Given the description of an element on the screen output the (x, y) to click on. 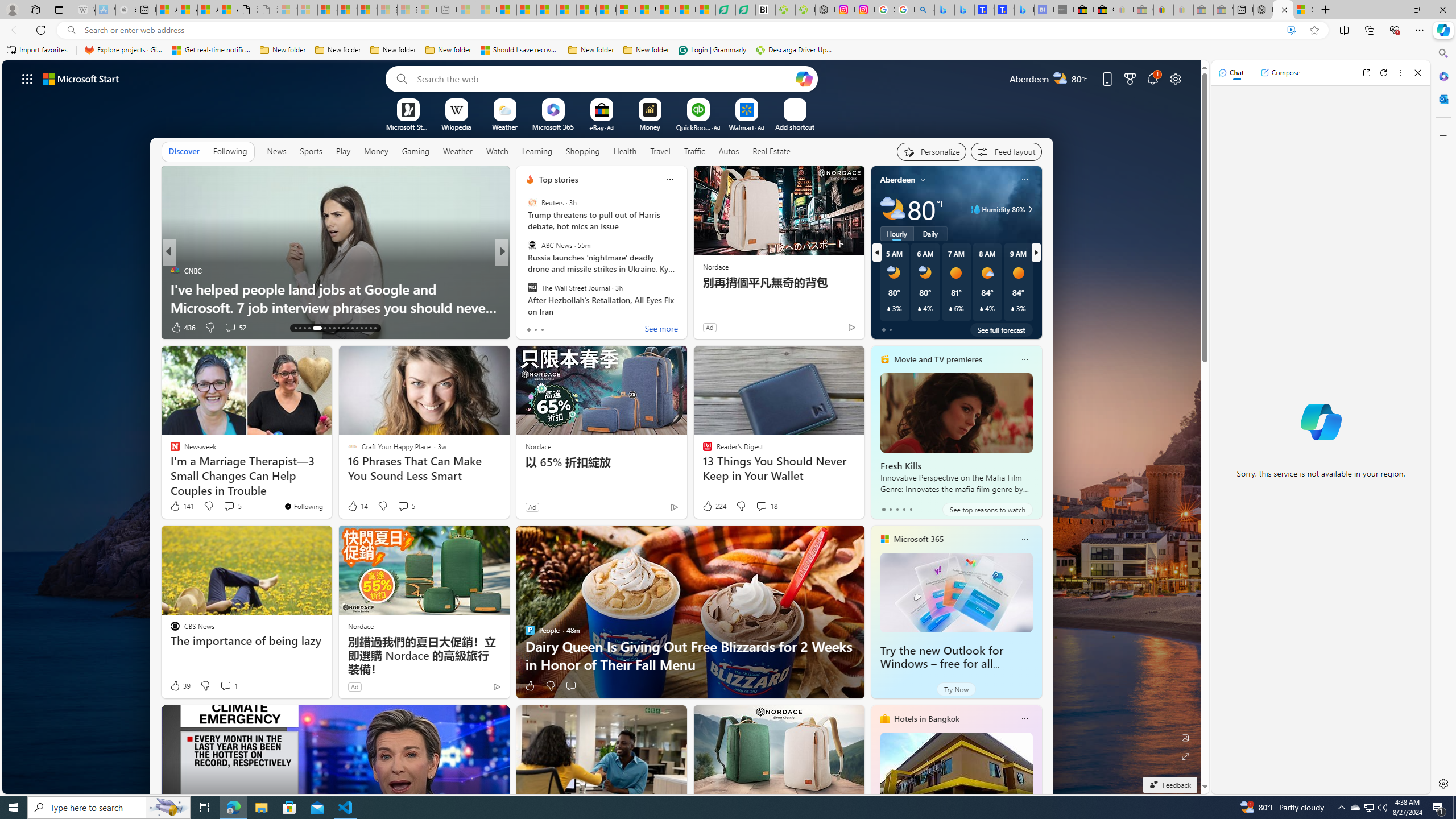
Safety in Our Products - Google Safety Center (884, 9)
AutomationID: tab-15 (304, 328)
